Given the description of an element on the screen output the (x, y) to click on. 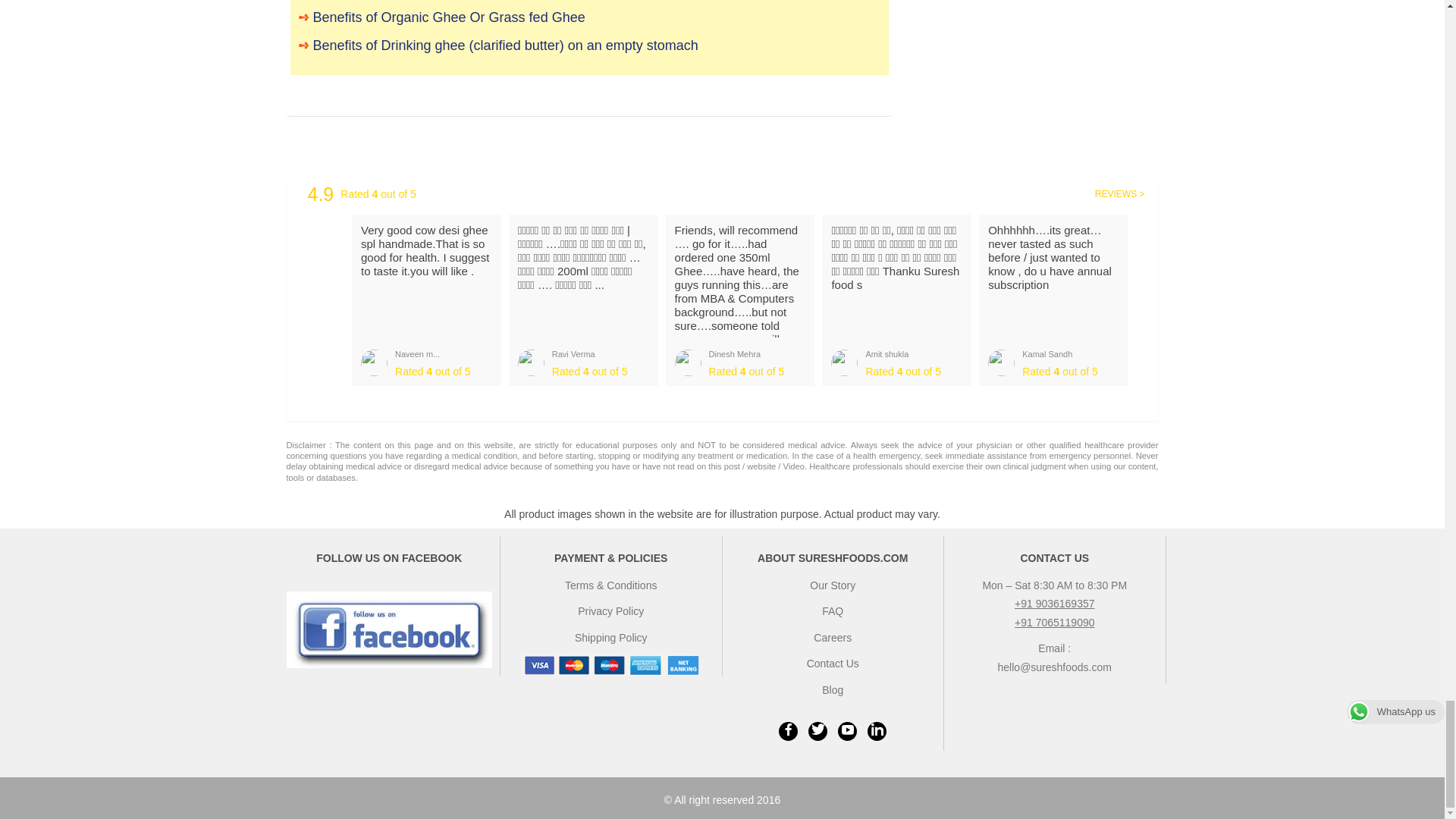
Benefits of Organic Ghee Or Grass fed Ghee (589, 17)
Privacy Policy (610, 611)
Follow Us on Facebook (389, 629)
Our Story (832, 585)
Shipping Policy (611, 637)
Benefits of Organic Ghee Or Grass fed Ghee (589, 17)
